Given the description of an element on the screen output the (x, y) to click on. 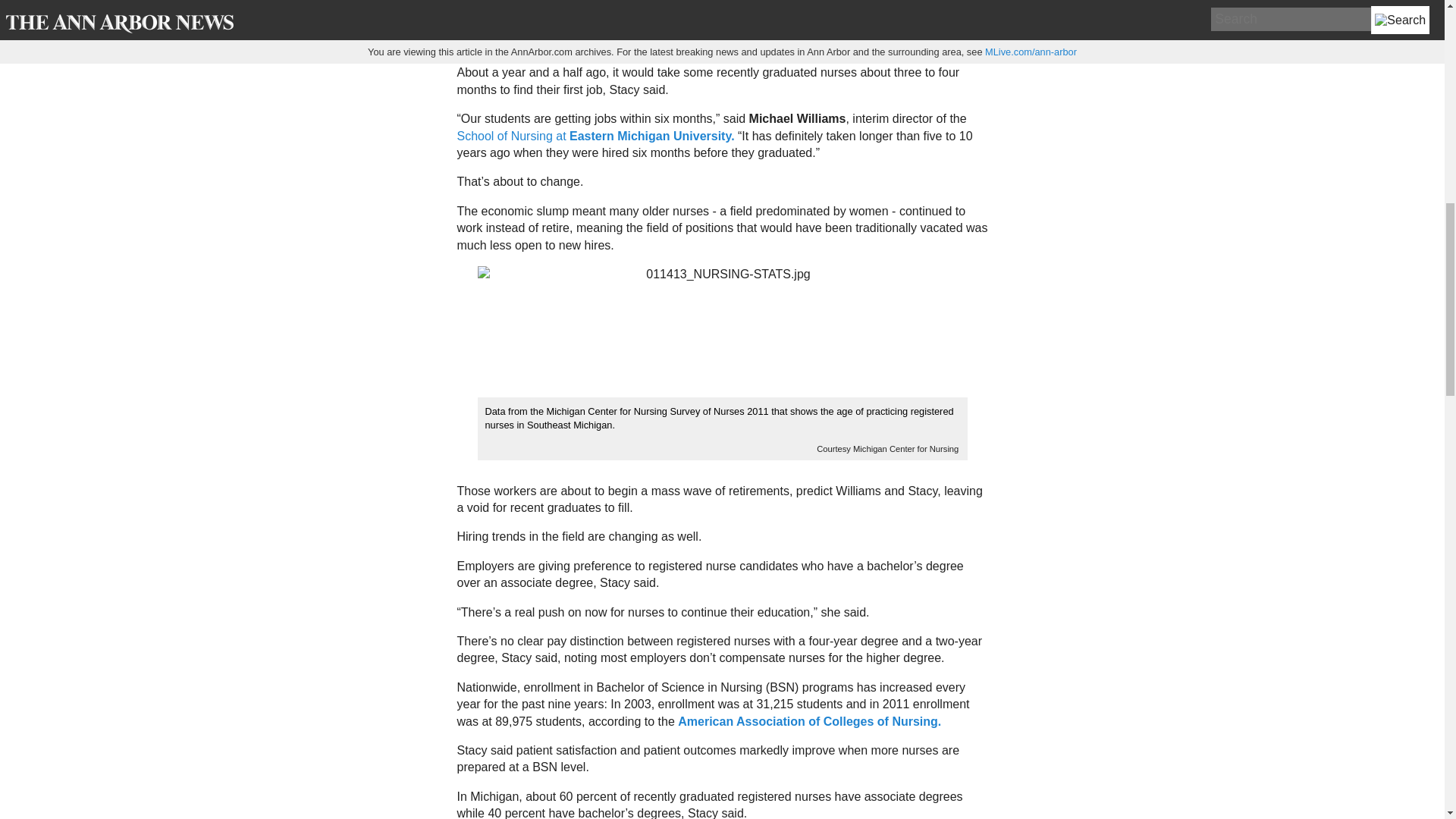
online job portal (753, 9)
95 positions available (633, 26)
School of Nursing at Eastern Michigan University. (595, 135)
American Association of Colleges of Nursing. (807, 720)
